Given the description of an element on the screen output the (x, y) to click on. 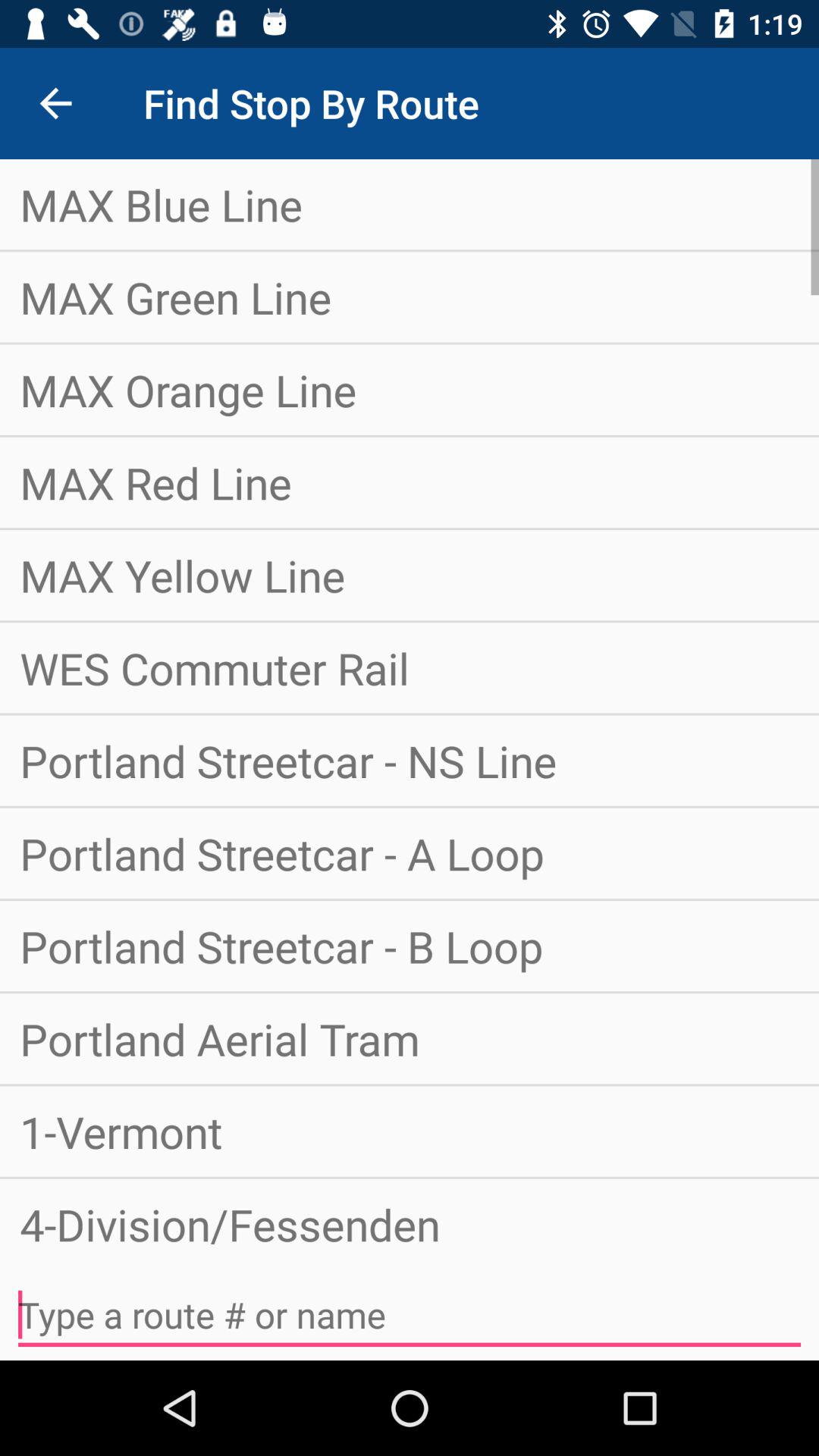
tap item above the max blue line (55, 103)
